Given the description of an element on the screen output the (x, y) to click on. 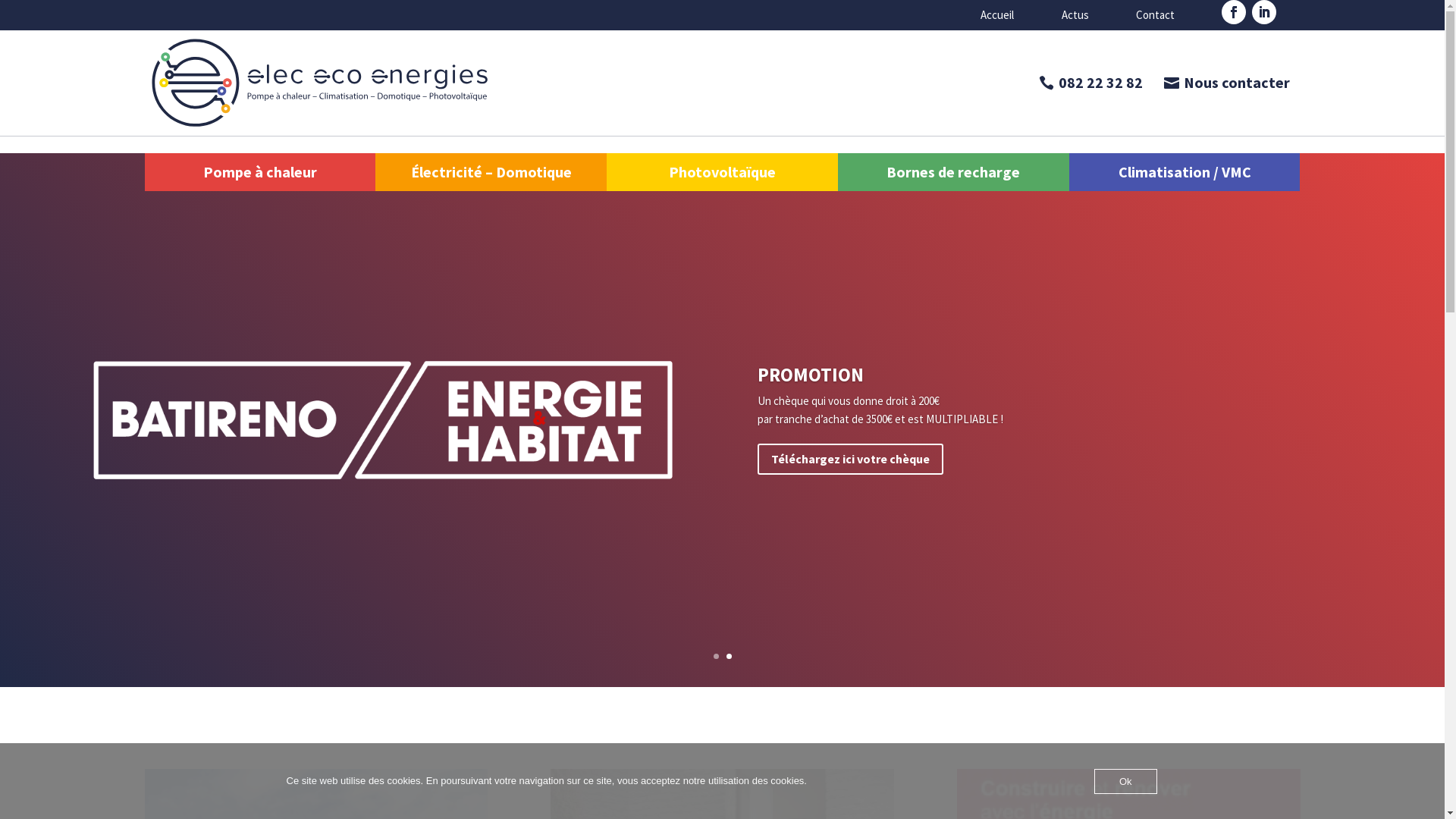
Ok Element type: text (1125, 780)
1 Element type: text (715, 655)
Suivez sur LinkedIn Element type: hover (1264, 12)
Suivez sur Facebook Element type: hover (1233, 12)
2 Element type: text (728, 655)
PROMOTION Element type: text (810, 381)
Logo N Element type: hover (317, 82)
Nous contacter Element type: text (1225, 82)
082 22 32 82 Element type: text (1090, 82)
